Given the description of an element on the screen output the (x, y) to click on. 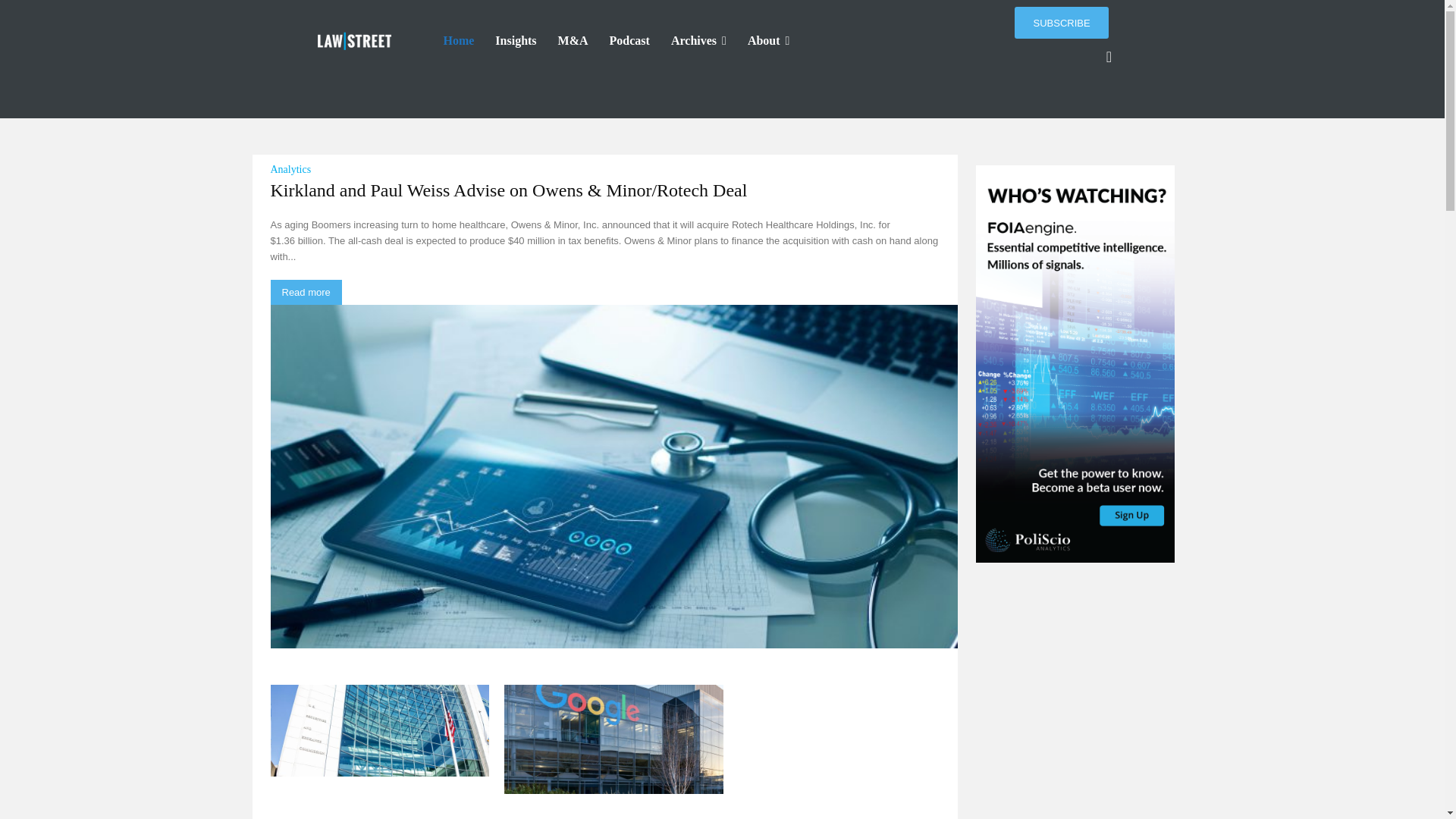
Read more (304, 292)
Archives (698, 40)
Read more (304, 292)
Subscribe (1061, 22)
SUBSCRIBE (1061, 22)
Chasing Cash: United Bankshares to Acquire Piedmont Bancorp (848, 738)
Analytics (290, 171)
